Given the description of an element on the screen output the (x, y) to click on. 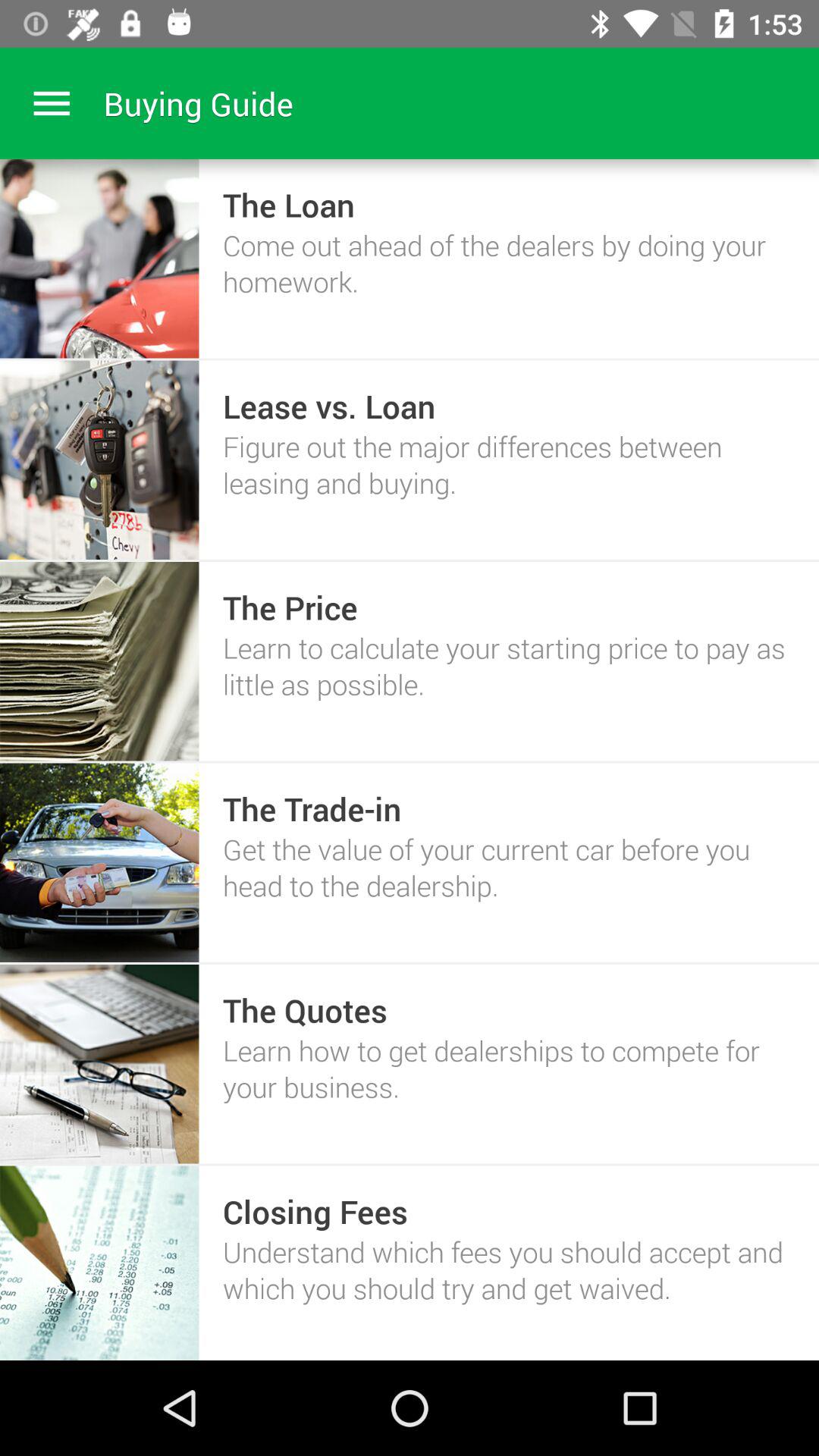
jump to the get the value (508, 867)
